Given the description of an element on the screen output the (x, y) to click on. 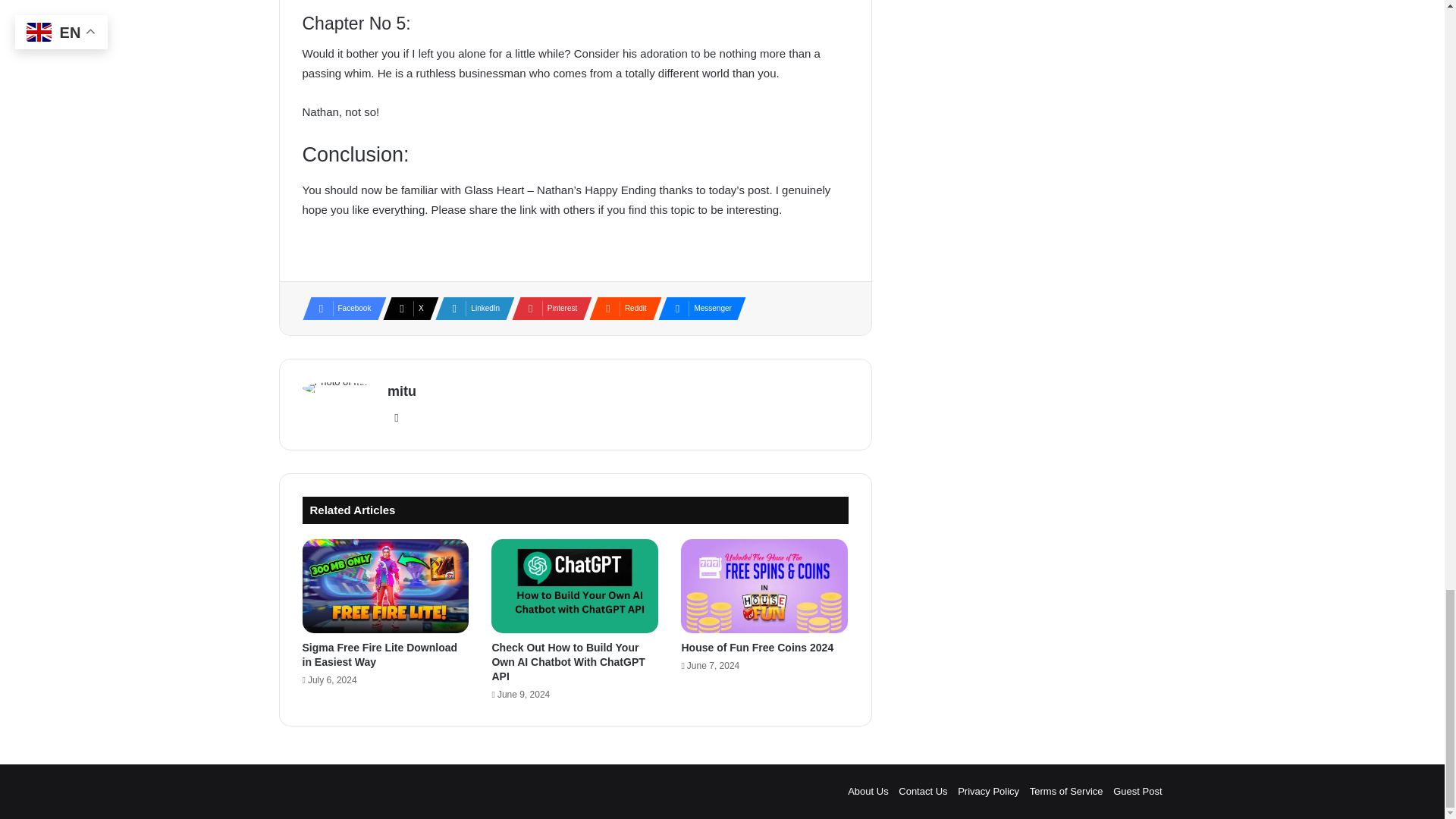
LinkedIn (470, 308)
Reddit (620, 308)
X (405, 308)
Messenger (697, 308)
Facebook (339, 308)
Facebook (339, 308)
X (405, 308)
Pinterest (547, 308)
LinkedIn (470, 308)
Reddit (620, 308)
